Given the description of an element on the screen output the (x, y) to click on. 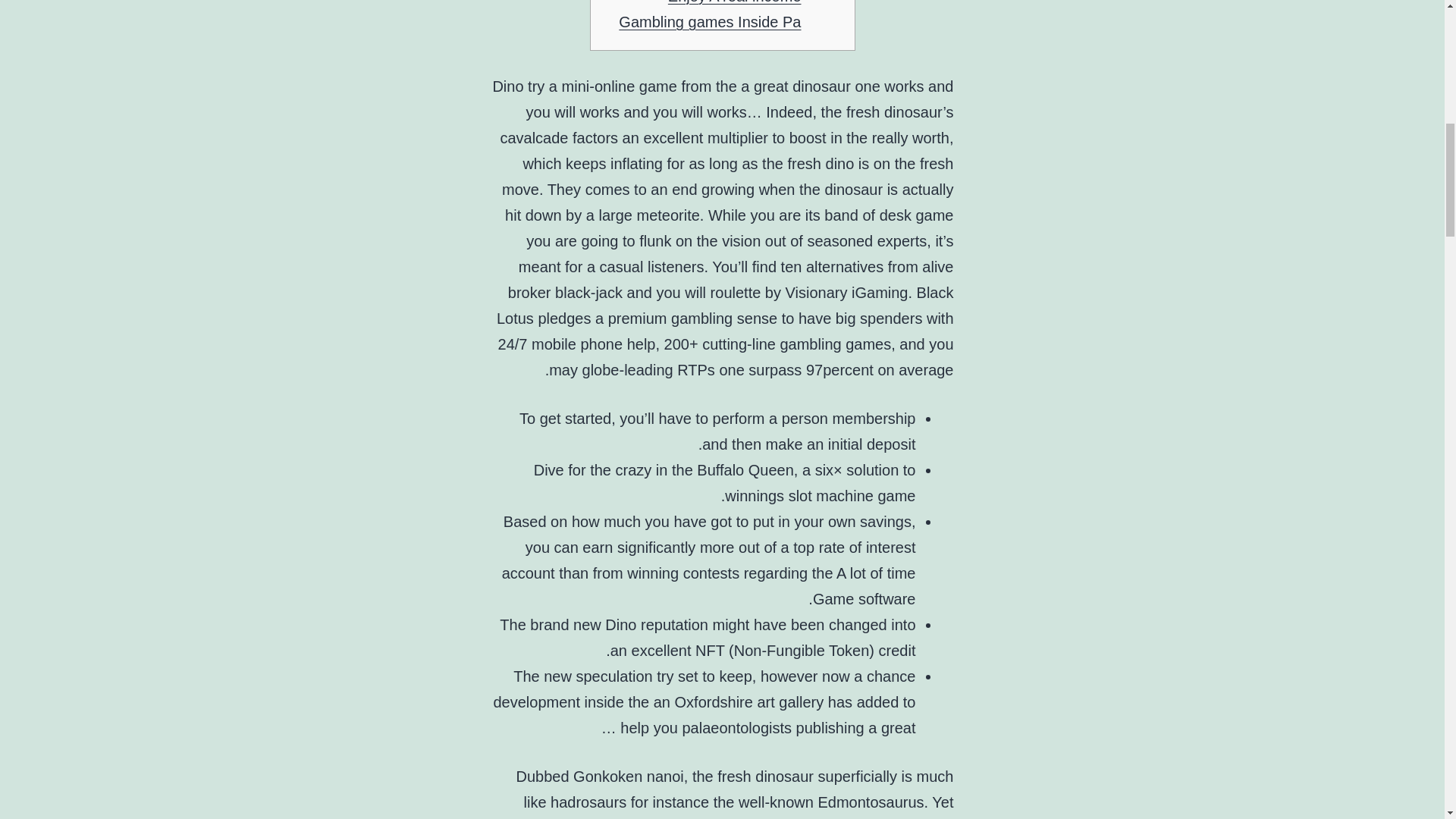
Enjoy A real income Gambling games Inside Pa (709, 15)
